Given the description of an element on the screen output the (x, y) to click on. 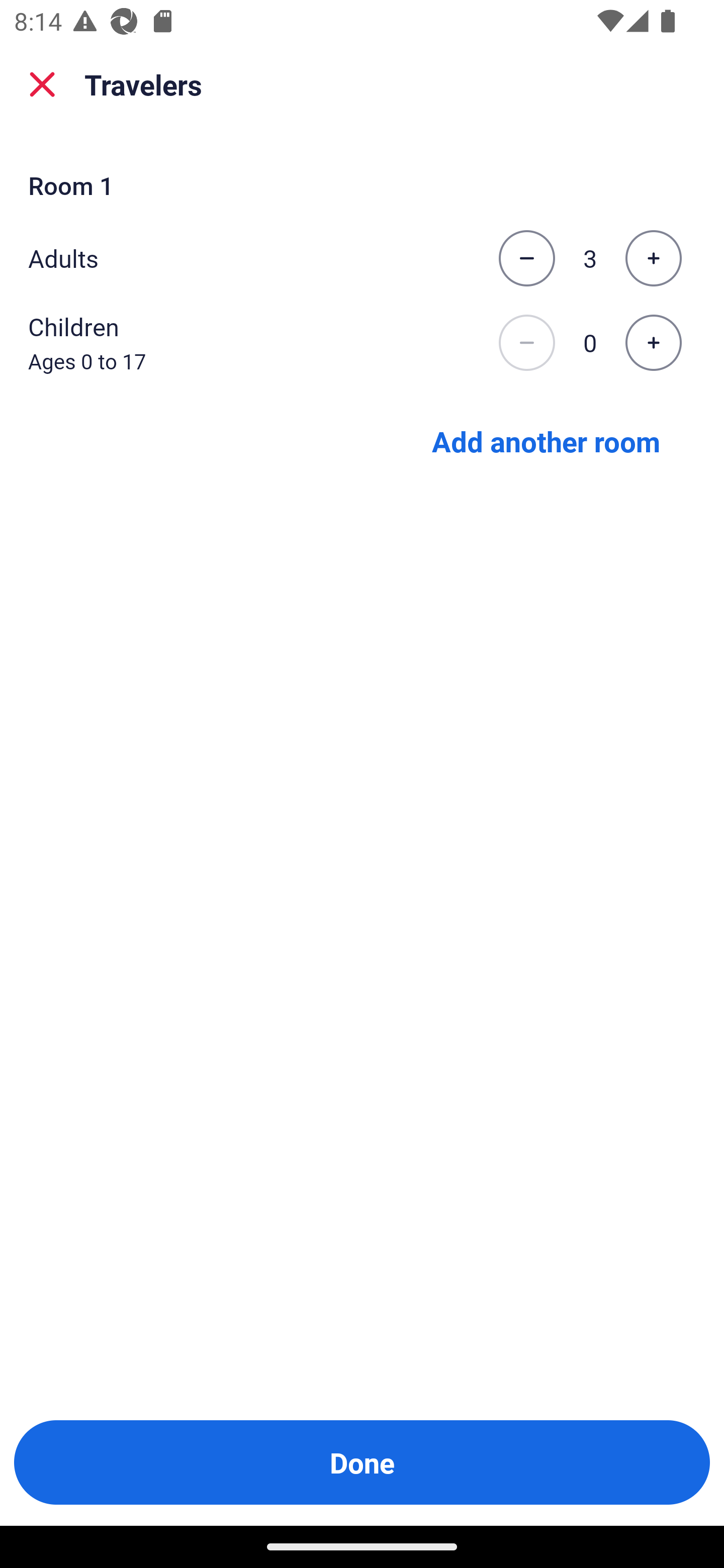
close (42, 84)
Decrease the number of adults (526, 258)
Increase the number of adults (653, 258)
Decrease the number of children (526, 343)
Increase the number of children (653, 343)
Add another room (545, 440)
Done (361, 1462)
